Given the description of an element on the screen output the (x, y) to click on. 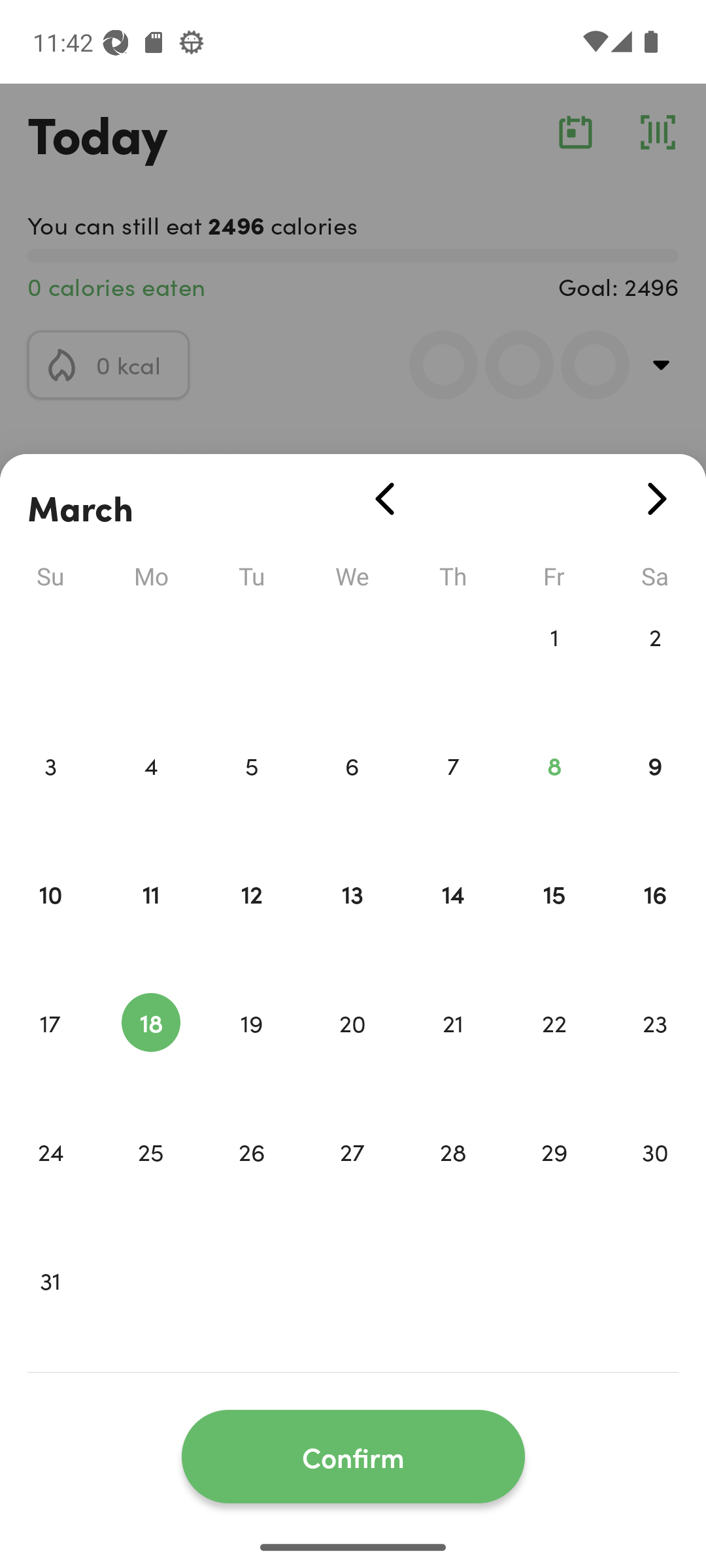
1 (554, 663)
2 (655, 663)
3 (50, 793)
4 (150, 793)
5 (251, 793)
6 (352, 793)
7 (453, 793)
8 (554, 793)
9 (655, 793)
10 (50, 921)
11 (150, 921)
12 (251, 921)
13 (352, 921)
14 (453, 921)
15 (554, 921)
16 (655, 921)
17 (50, 1050)
18 (150, 1050)
19 (251, 1050)
20 (352, 1050)
21 (453, 1050)
22 (554, 1050)
23 (655, 1050)
24 (50, 1178)
25 (150, 1178)
26 (251, 1178)
27 (352, 1178)
28 (453, 1178)
29 (554, 1178)
30 (655, 1178)
31 (50, 1307)
Confirm (353, 1456)
